Given the description of an element on the screen output the (x, y) to click on. 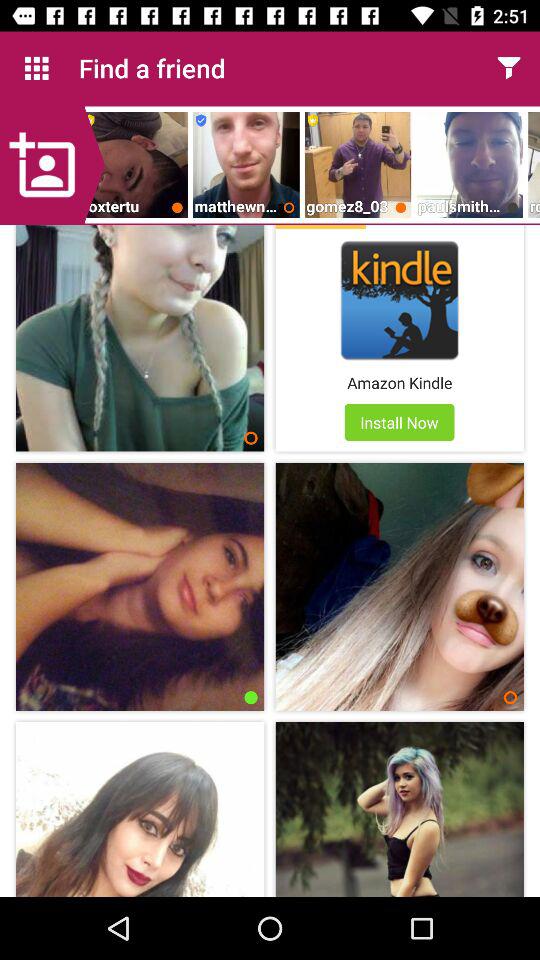
select app above amazon kindle item (399, 300)
